Given the description of an element on the screen output the (x, y) to click on. 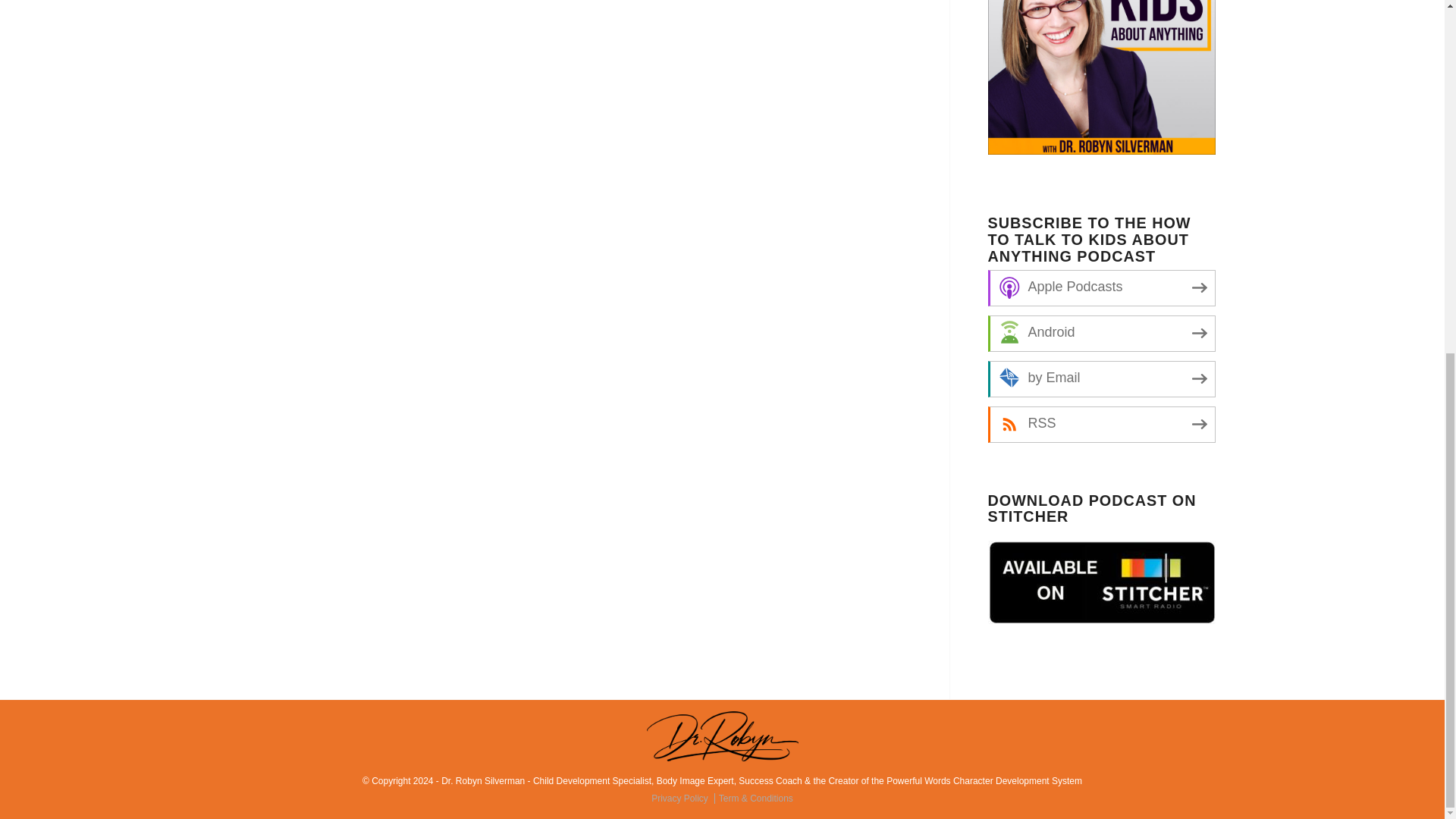
Apple Podcasts (1100, 288)
Privacy Policy (682, 798)
Subscribe by Email (1100, 379)
Subscribe on Apple Podcasts (1100, 288)
Subscribe via RSS (1100, 424)
by Email (1100, 379)
RSS (1100, 424)
How to Talk to Kids About Anything Podcast (1100, 81)
Download Podcast on Stitcher (1100, 582)
Android (1100, 333)
Subscribe on Android (1100, 333)
